Given the description of an element on the screen output the (x, y) to click on. 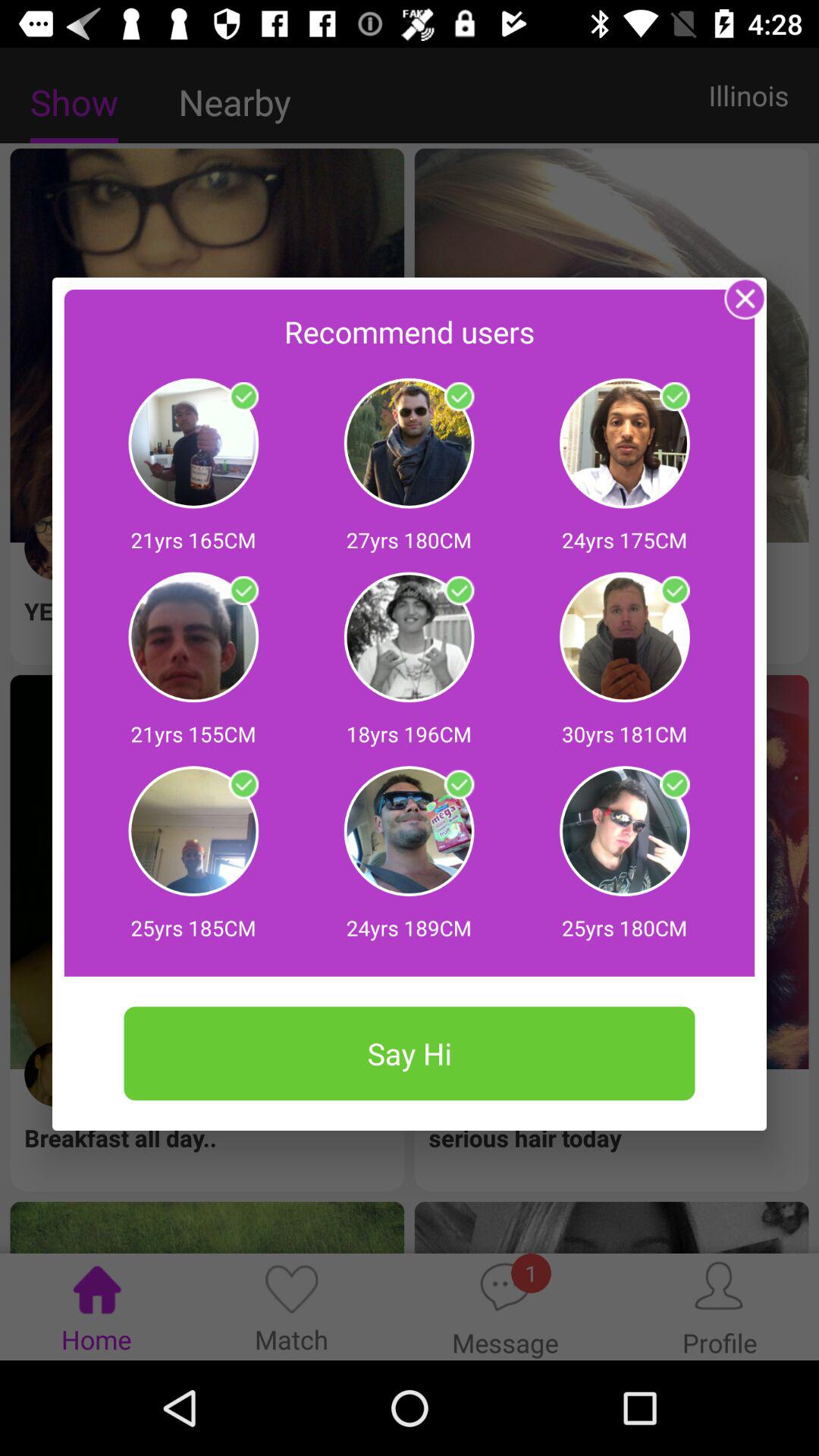
unlike user (674, 590)
